Given the description of an element on the screen output the (x, y) to click on. 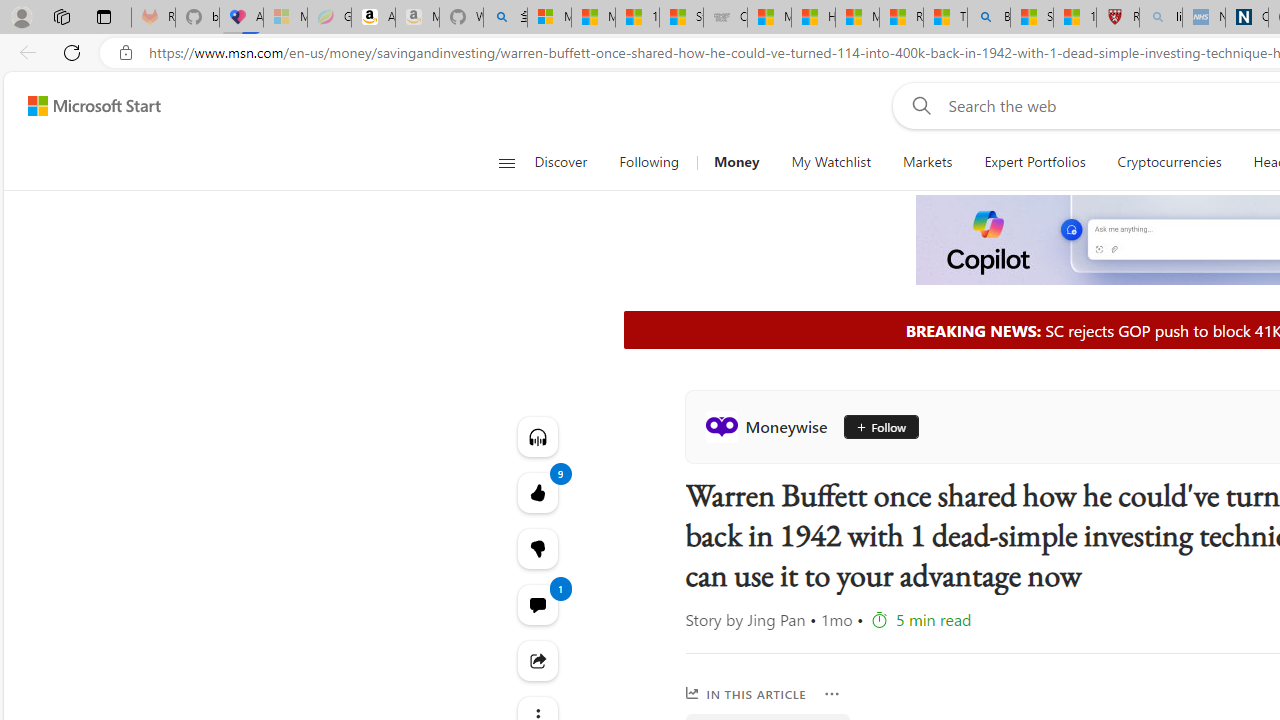
9 Like (537, 492)
Bing (988, 17)
Expert Portfolios (1034, 162)
9 (537, 548)
Listen to this article (537, 436)
